Given the description of an element on the screen output the (x, y) to click on. 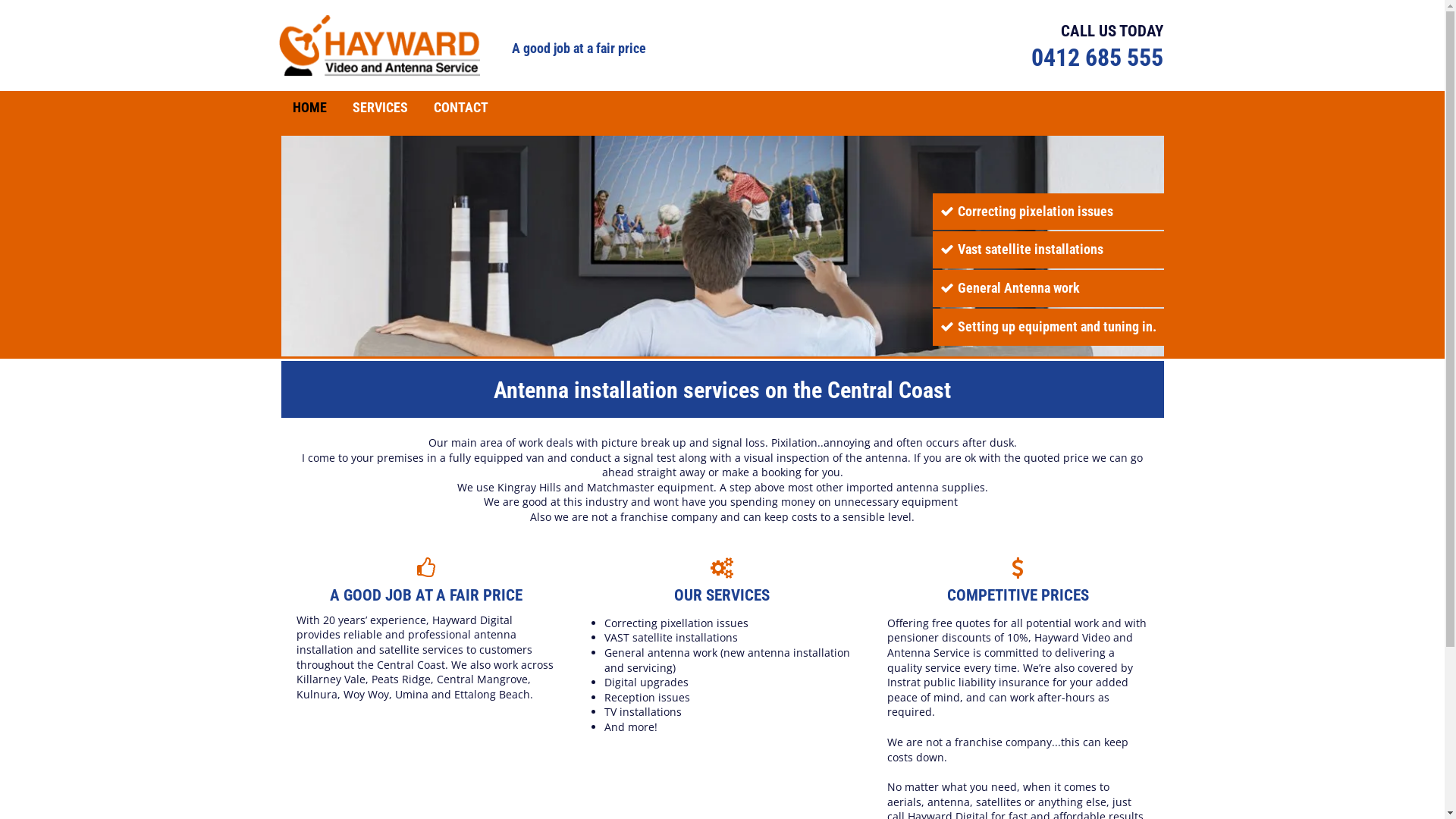
0412 685 555 Element type: text (1097, 57)
SERVICES Element type: text (379, 107)
Antenna-installation-services-in-Gosford Element type: hover (721, 245)
HOME Element type: text (309, 107)
CONTACT Element type: text (460, 107)
